Given the description of an element on the screen output the (x, y) to click on. 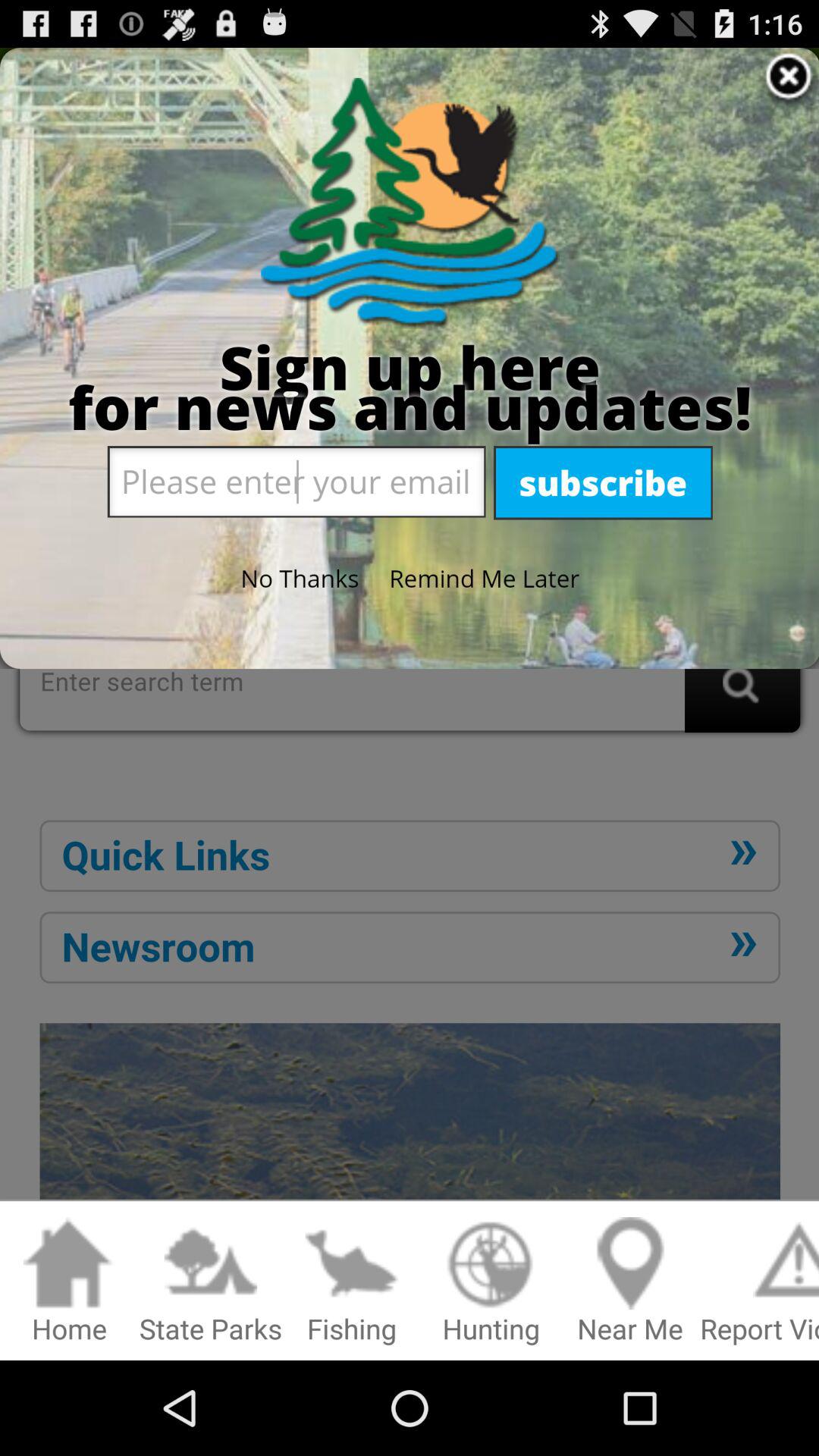
exit pop up (409, 628)
